Given the description of an element on the screen output the (x, y) to click on. 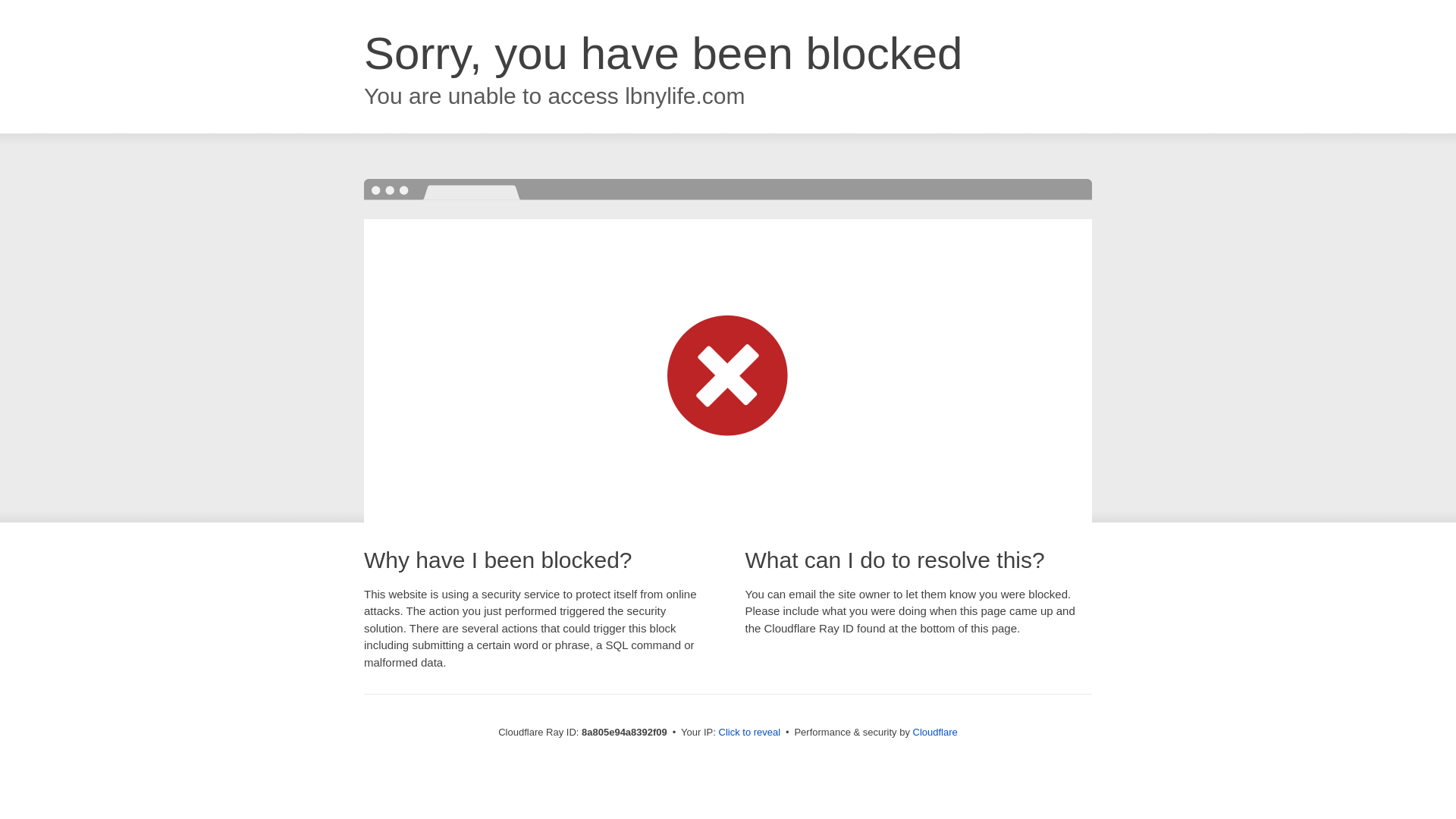
Cloudflare (935, 731)
Click to reveal (749, 732)
